Given the description of an element on the screen output the (x, y) to click on. 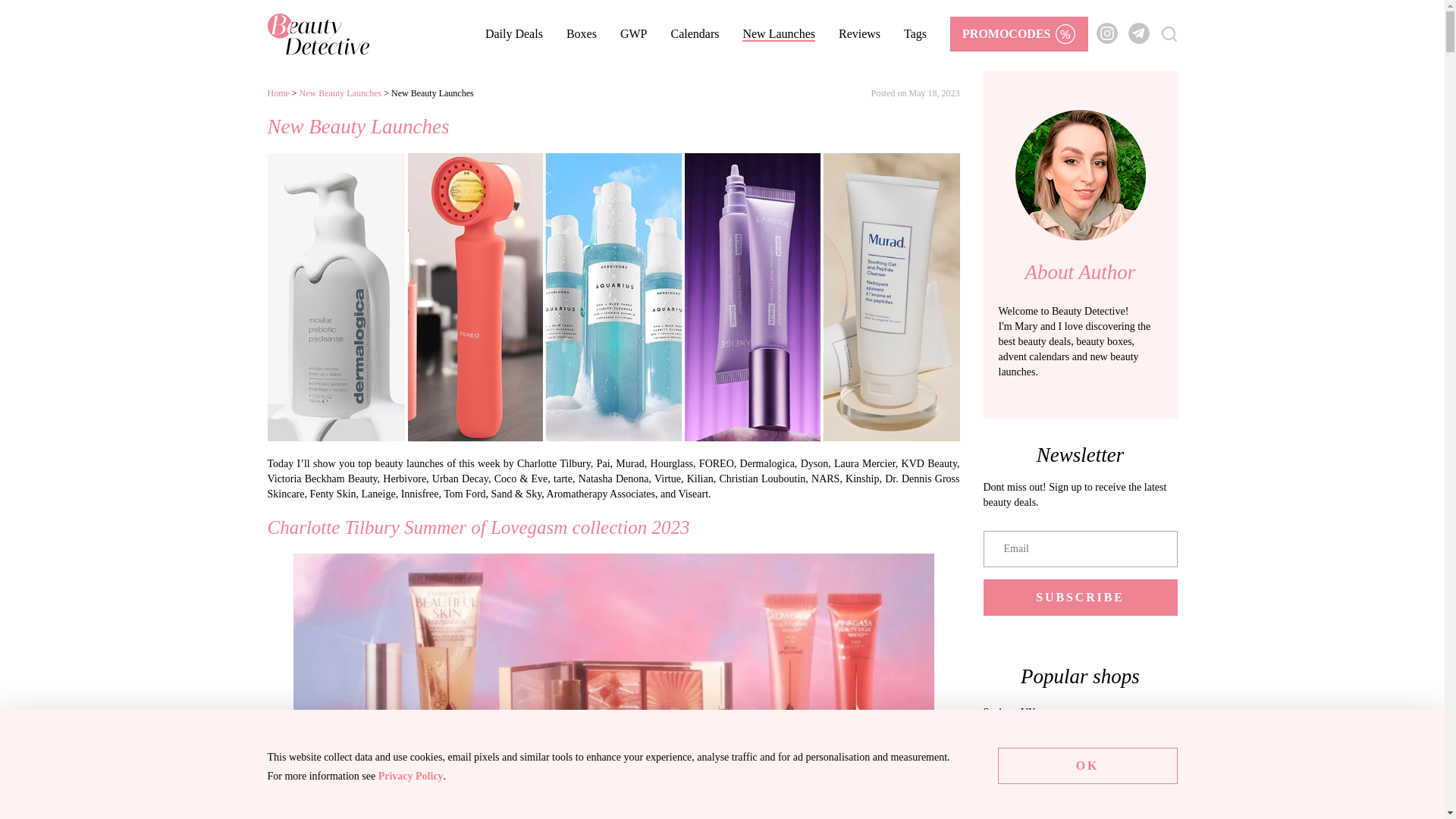
Subscribe (1079, 597)
New Beauty Launches (340, 92)
New Launches (778, 33)
GWP (633, 33)
Go to the New Beauty Launches Category archives. (340, 92)
Tags (915, 33)
Daily Deals (513, 33)
Calendars (694, 33)
Home (277, 92)
PROMOCODES (1018, 33)
Go to Beauty Detective. (277, 92)
Reviews (859, 33)
Boxes (581, 33)
